Given the description of an element on the screen output the (x, y) to click on. 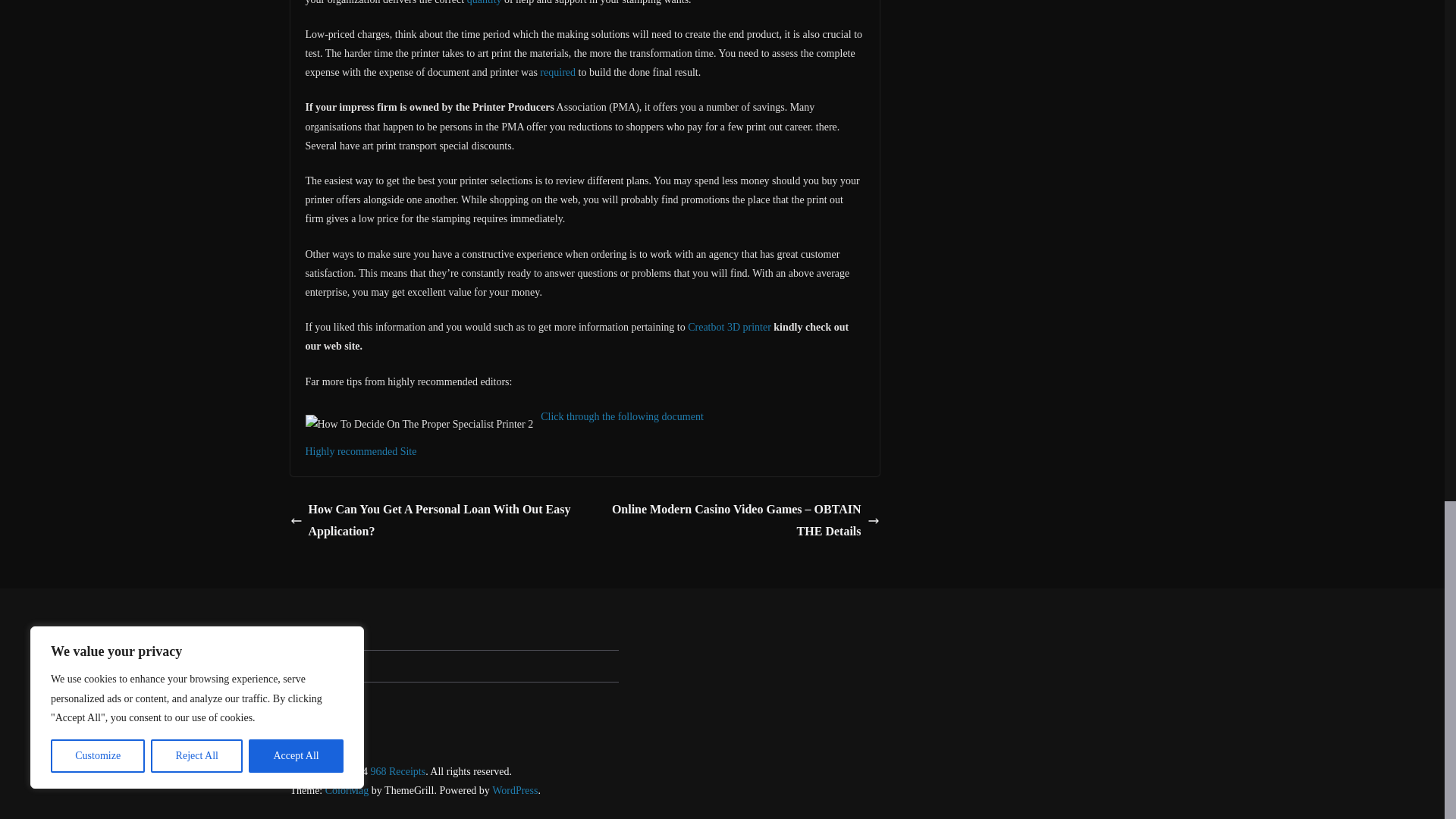
Creatbot 3D printer (729, 326)
ColorMag (346, 790)
required (557, 71)
How Can You Get A Personal Loan With Out Easy Application? (432, 520)
WordPress (514, 790)
968 Receipts (397, 771)
Highly recommended Site (360, 451)
Click through the following document (621, 416)
quantity (484, 2)
